Given the description of an element on the screen output the (x, y) to click on. 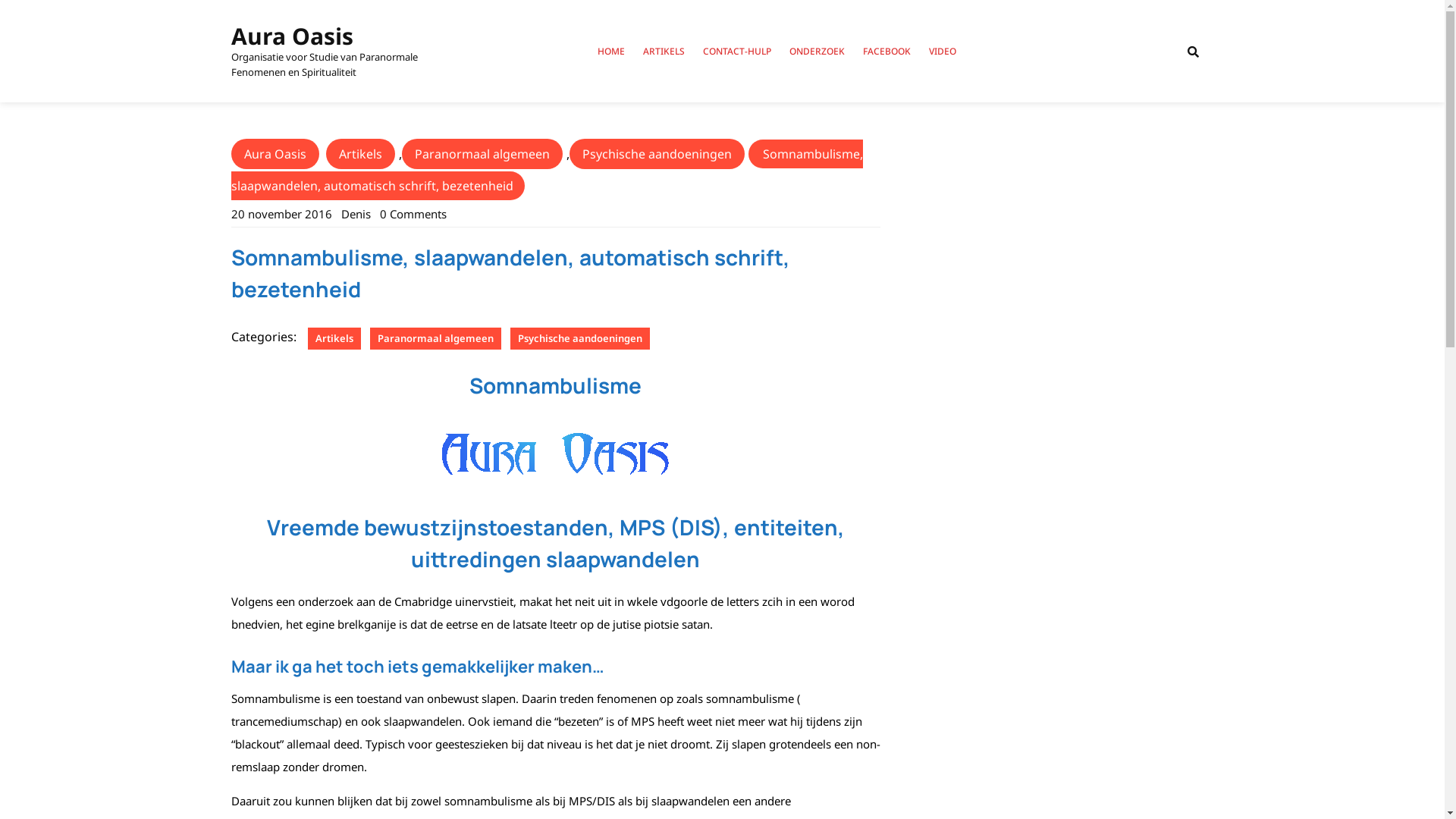
FACEBOOK Element type: text (886, 51)
CONTACT-HULP Element type: text (736, 51)
Psychische aandoeningen Element type: text (579, 338)
Aura Oasis Element type: text (274, 153)
Aura Oasis Element type: text (291, 35)
Denis
Denis Element type: text (355, 213)
20 november 2016
20 november 2016 Element type: text (280, 213)
Psychische aandoeningen Element type: text (655, 153)
HOME Element type: text (610, 51)
VIDEO Element type: text (941, 51)
Paranormaal algemeen Element type: text (481, 153)
ARTIKELS Element type: text (663, 51)
Artikels Element type: text (333, 338)
Artikels Element type: text (360, 153)
Paranormaal algemeen Element type: text (435, 338)
ONDERZOEK Element type: text (816, 51)
